Given the description of an element on the screen output the (x, y) to click on. 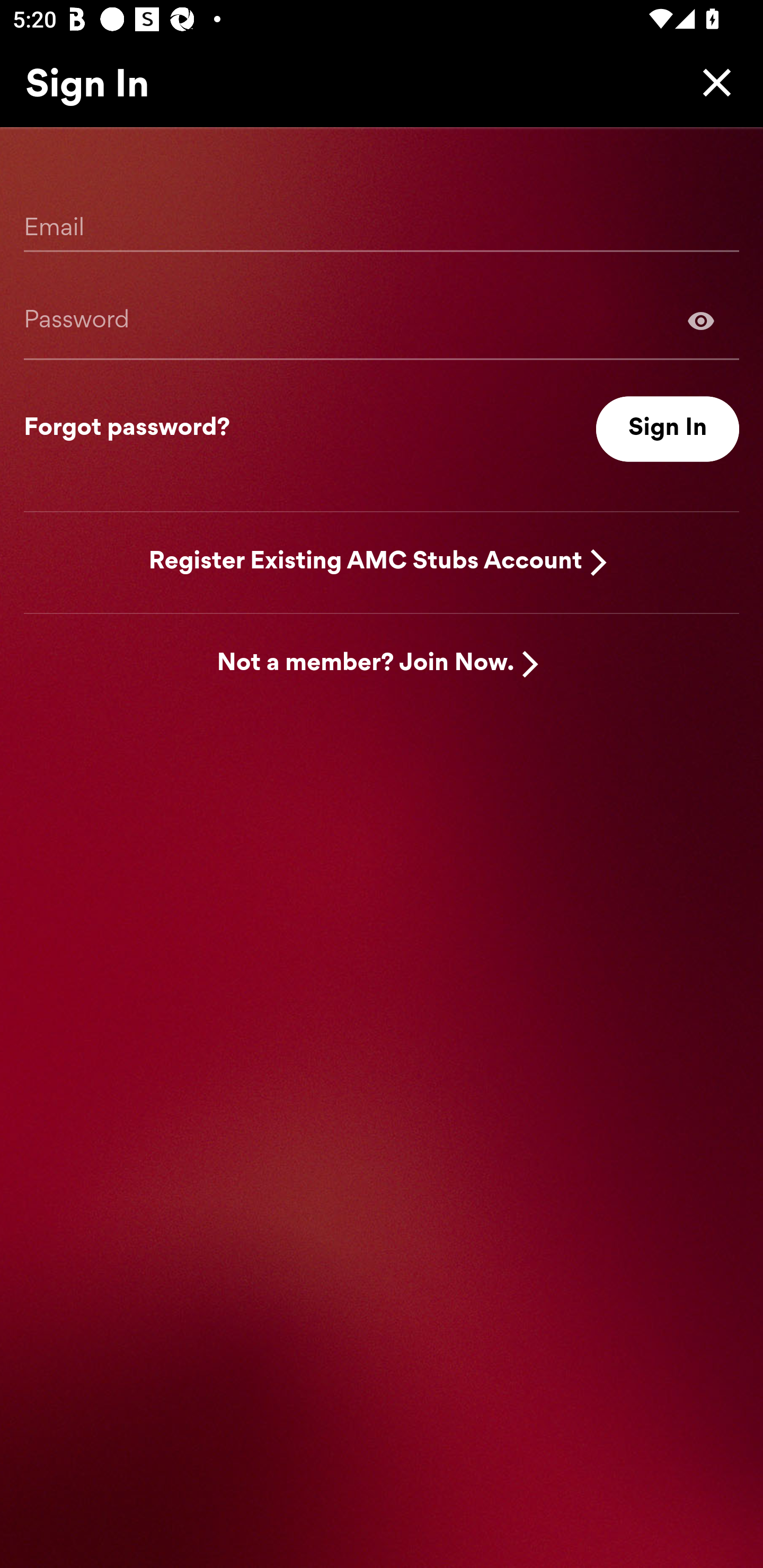
Close (712, 82)
Show Password (381, 320)
Show Password (701, 320)
Forgot password? (126, 428)
Sign In (667, 428)
Register Existing AMC Stubs Account (365, 561)
Not a member? Join Now. (365, 663)
